Given the description of an element on the screen output the (x, y) to click on. 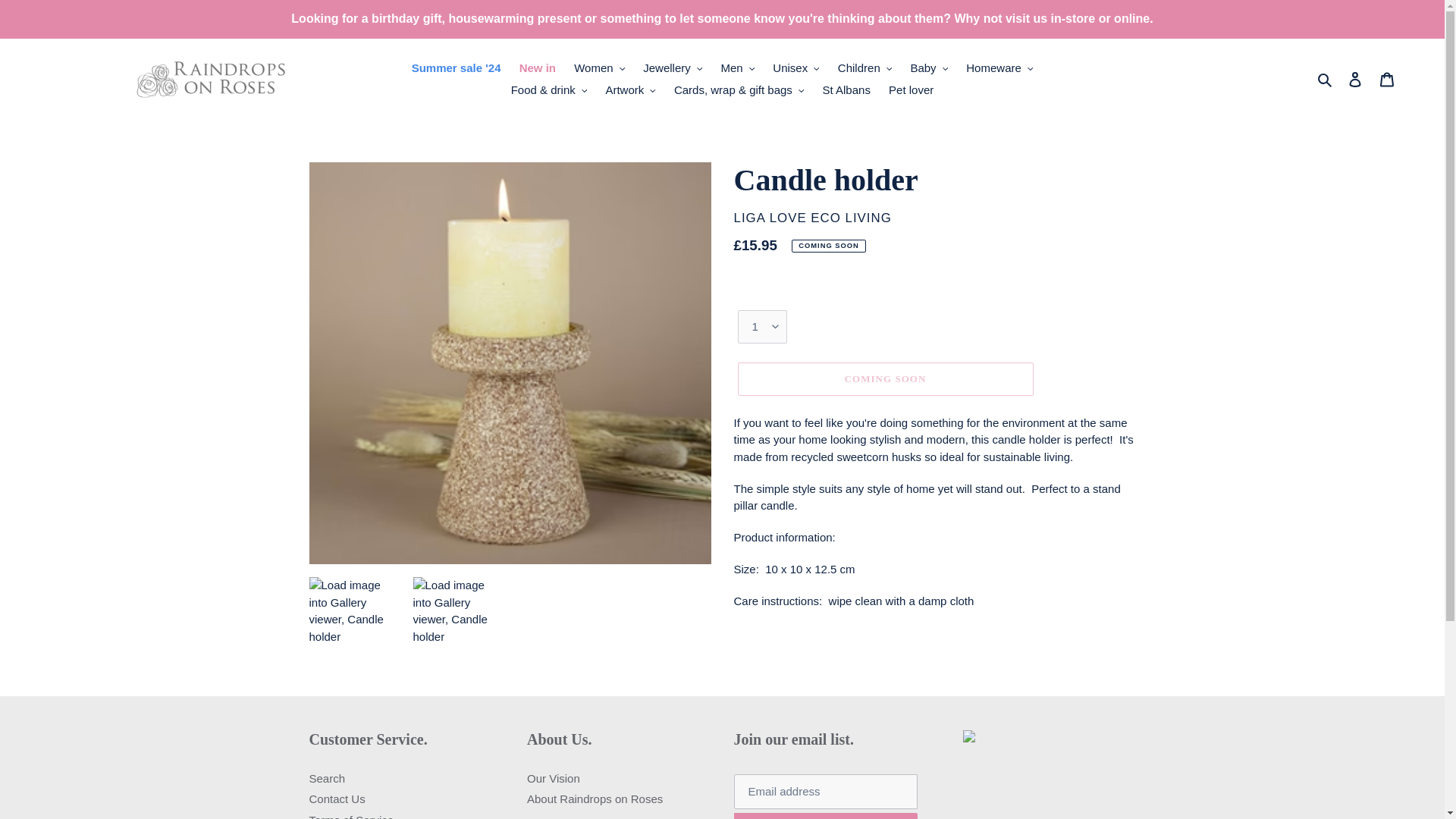
Jewellery (672, 68)
Summer sale '24 (456, 68)
Men (737, 68)
New in (537, 68)
Women (598, 68)
